Given the description of an element on the screen output the (x, y) to click on. 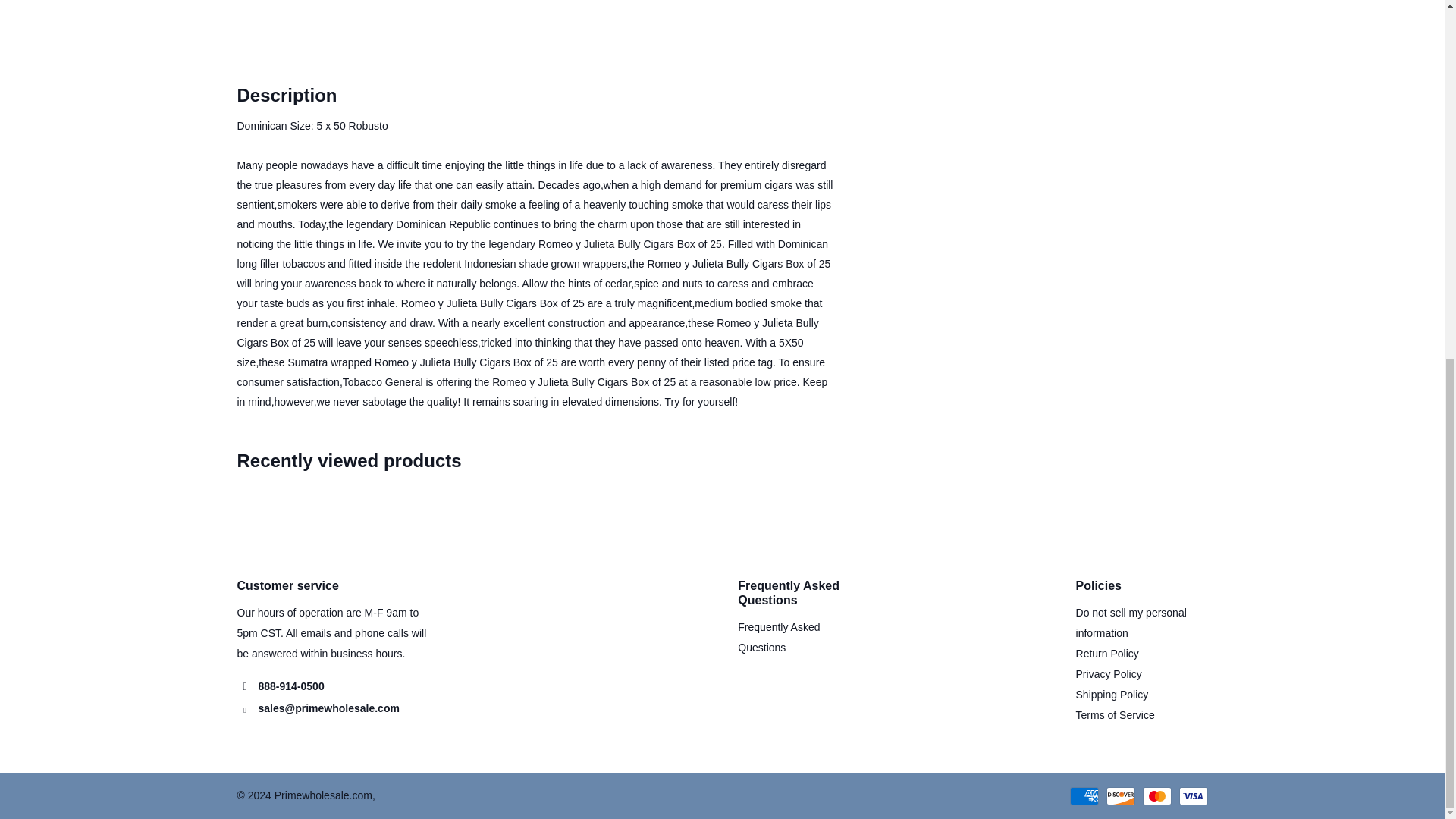
American Express (1082, 796)
Shipping Policy (1111, 694)
Mastercard (1155, 796)
Privacy Policy (1108, 674)
Do not sell my personal information (1130, 622)
Return Policy (1106, 653)
Visa (1192, 796)
Discover (1119, 796)
Terms of Service (1114, 715)
Frequently Asked Questions (778, 636)
